Given the description of an element on the screen output the (x, y) to click on. 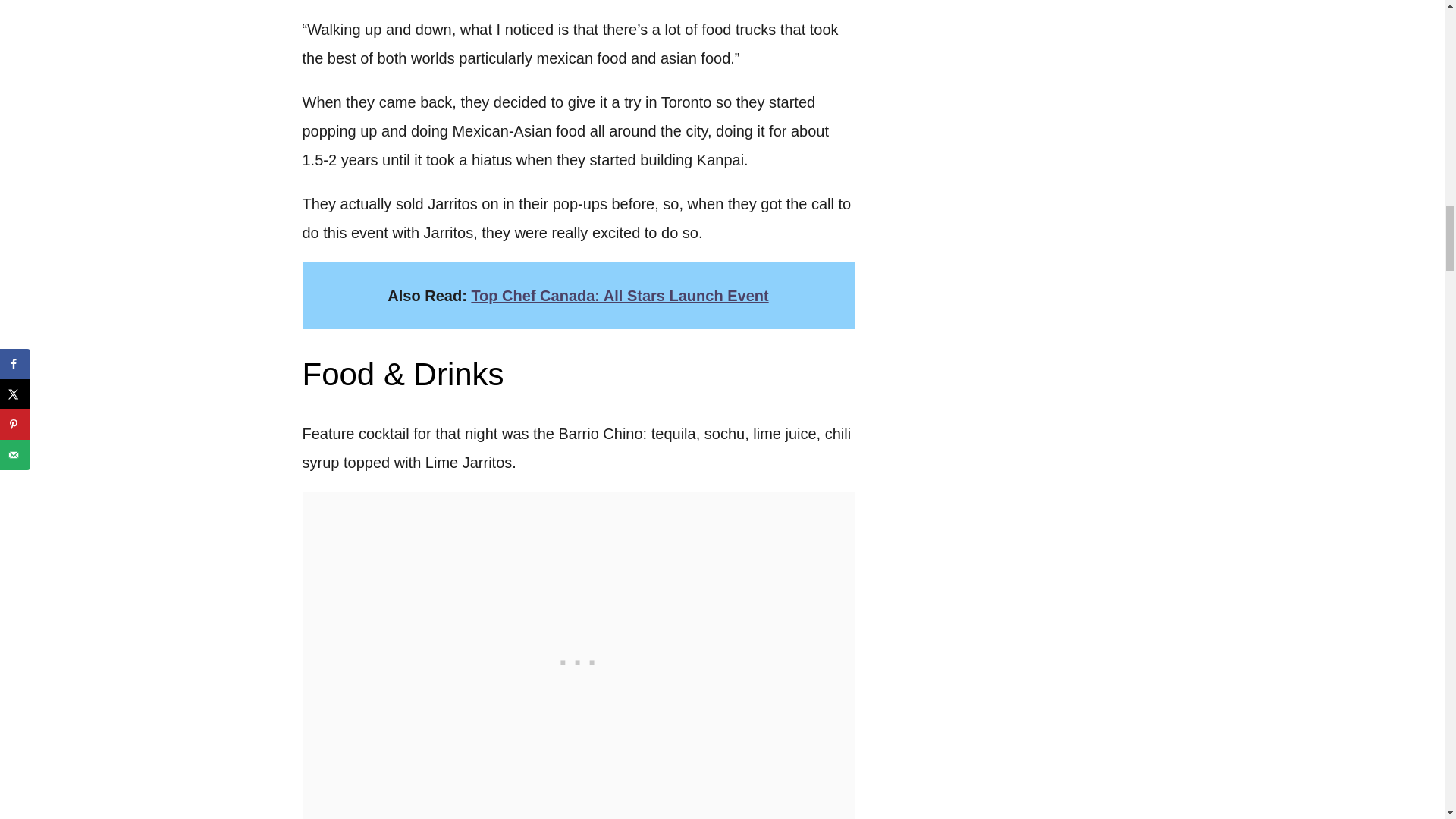
Top Chef Canada: All Stars Launch Event (619, 295)
